Given the description of an element on the screen output the (x, y) to click on. 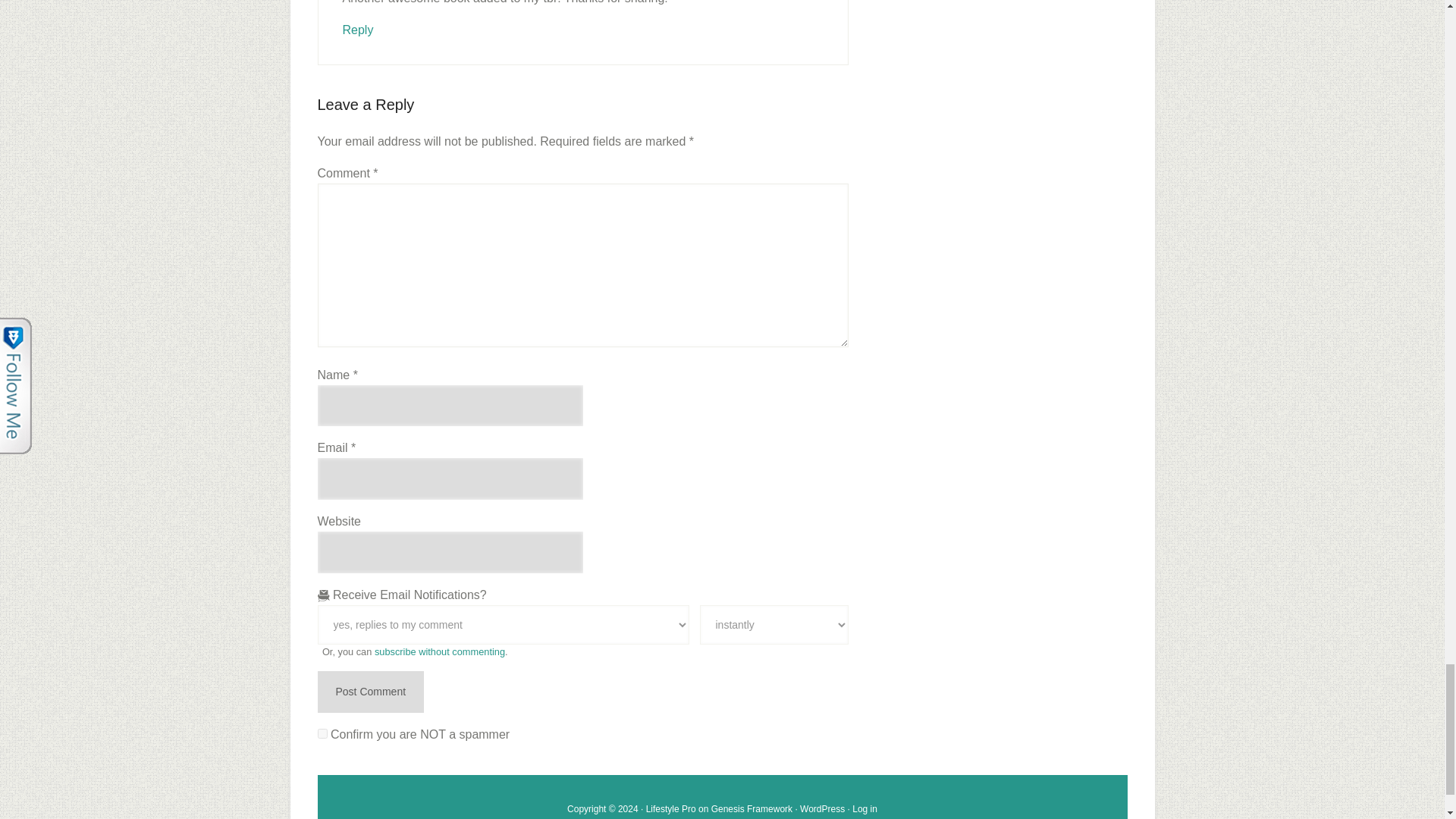
on (321, 733)
Post Comment (370, 691)
Notify Me (772, 624)
Receive Notifications? (502, 624)
